Given the description of an element on the screen output the (x, y) to click on. 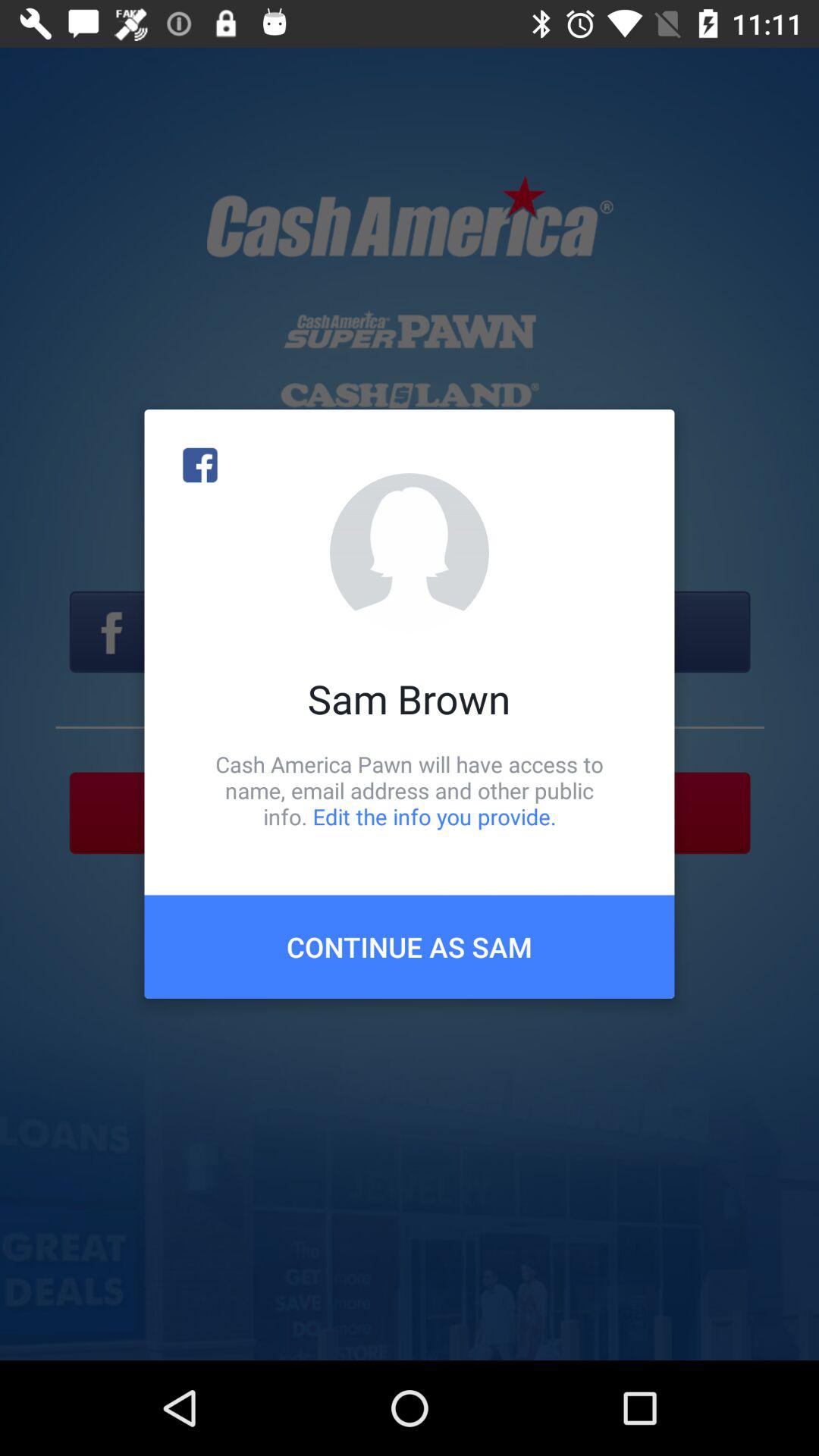
turn off the icon above continue as sam item (409, 790)
